Given the description of an element on the screen output the (x, y) to click on. 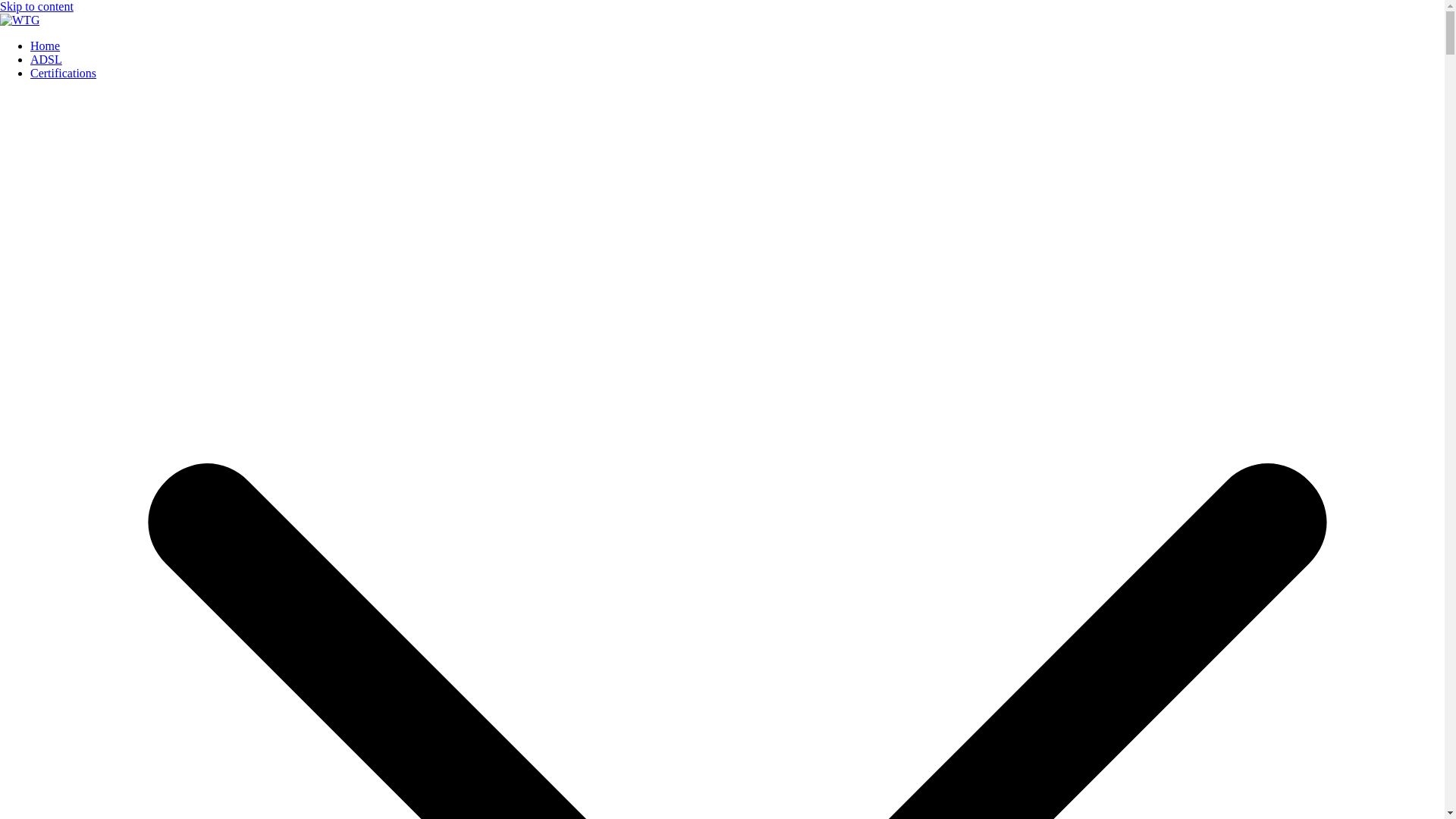
ADSL (46, 59)
Skip to content (37, 6)
Home (44, 45)
